Given the description of an element on the screen output the (x, y) to click on. 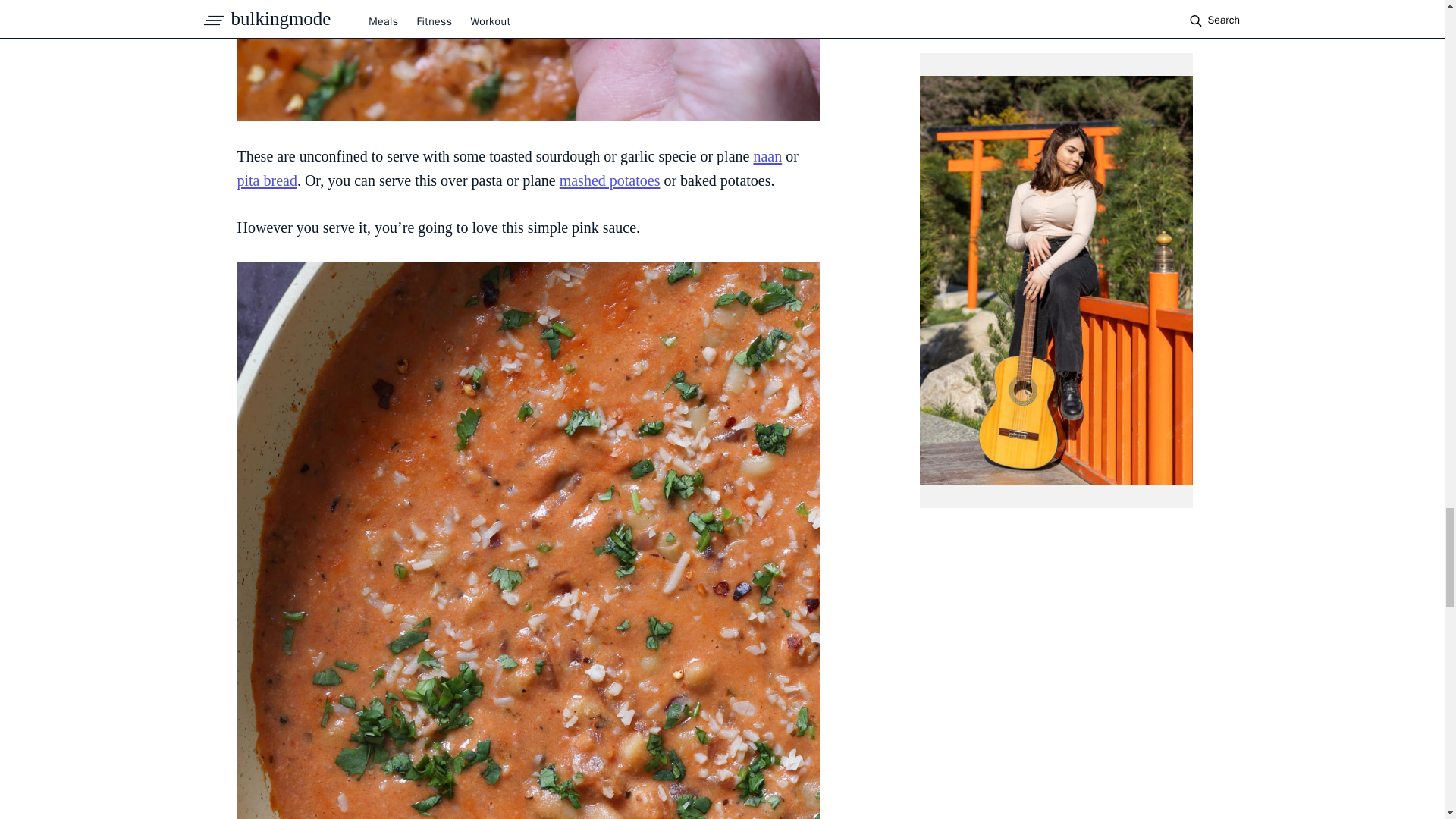
naan (766, 156)
mashed potatoes (610, 180)
pita bread (266, 180)
